Given the description of an element on the screen output the (x, y) to click on. 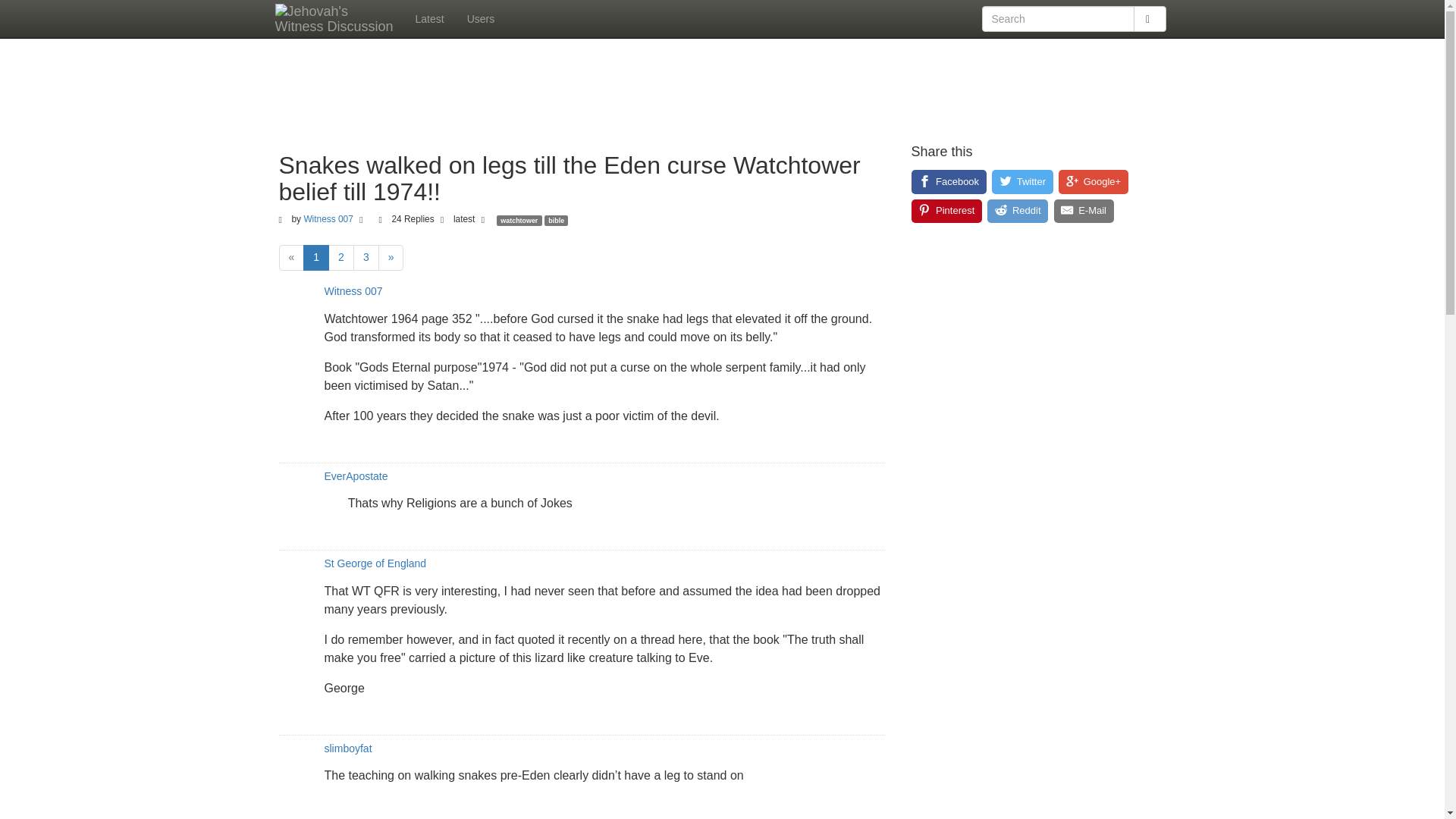
Latest (428, 18)
Page 1 (315, 257)
1 (315, 257)
2 (341, 257)
bible (555, 218)
Users (480, 18)
Witness 007 (327, 218)
EverApostate (356, 476)
Page 2 (341, 257)
next (391, 257)
